Given the description of an element on the screen output the (x, y) to click on. 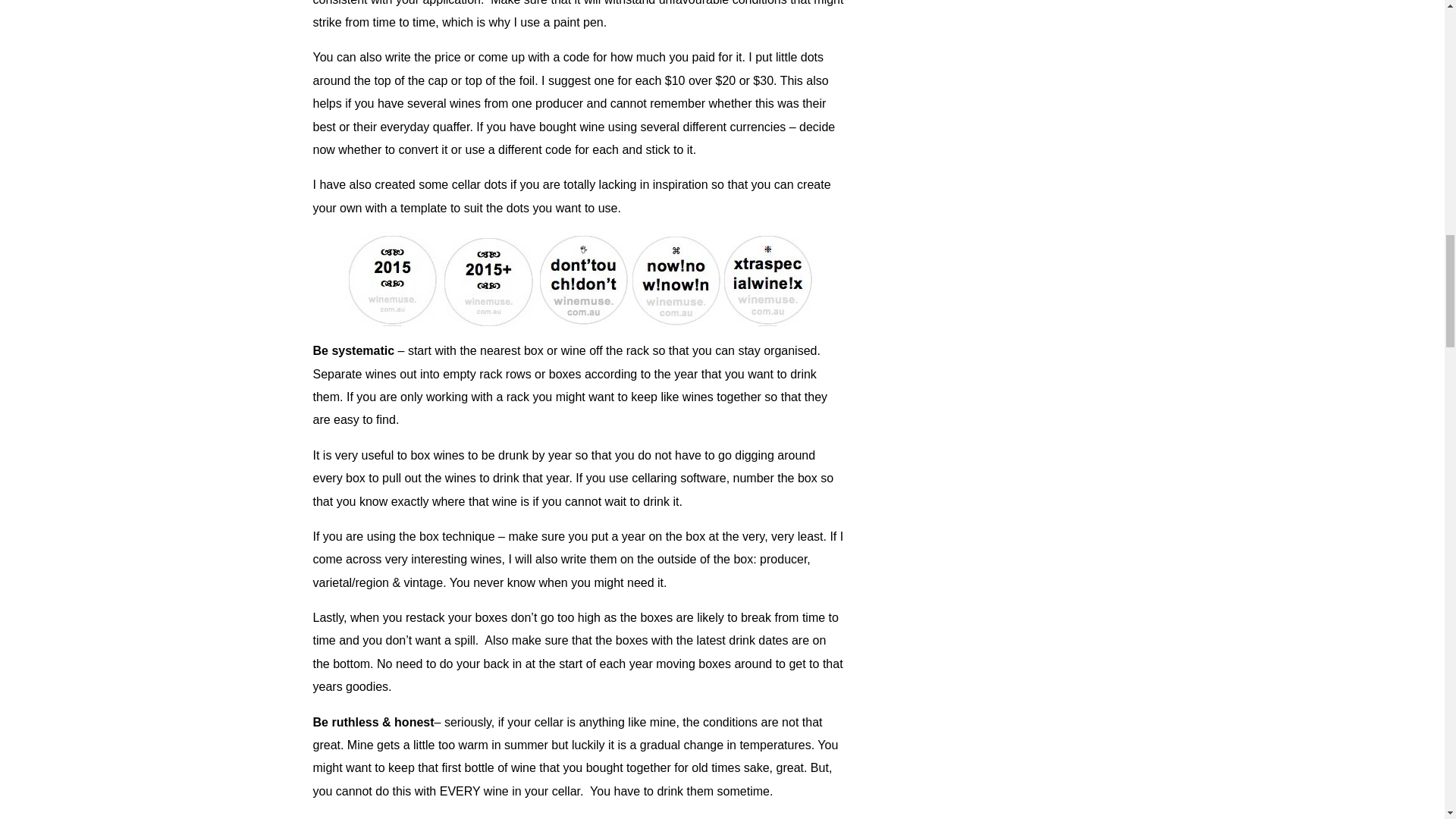
cellardots (578, 279)
